Given the description of an element on the screen output the (x, y) to click on. 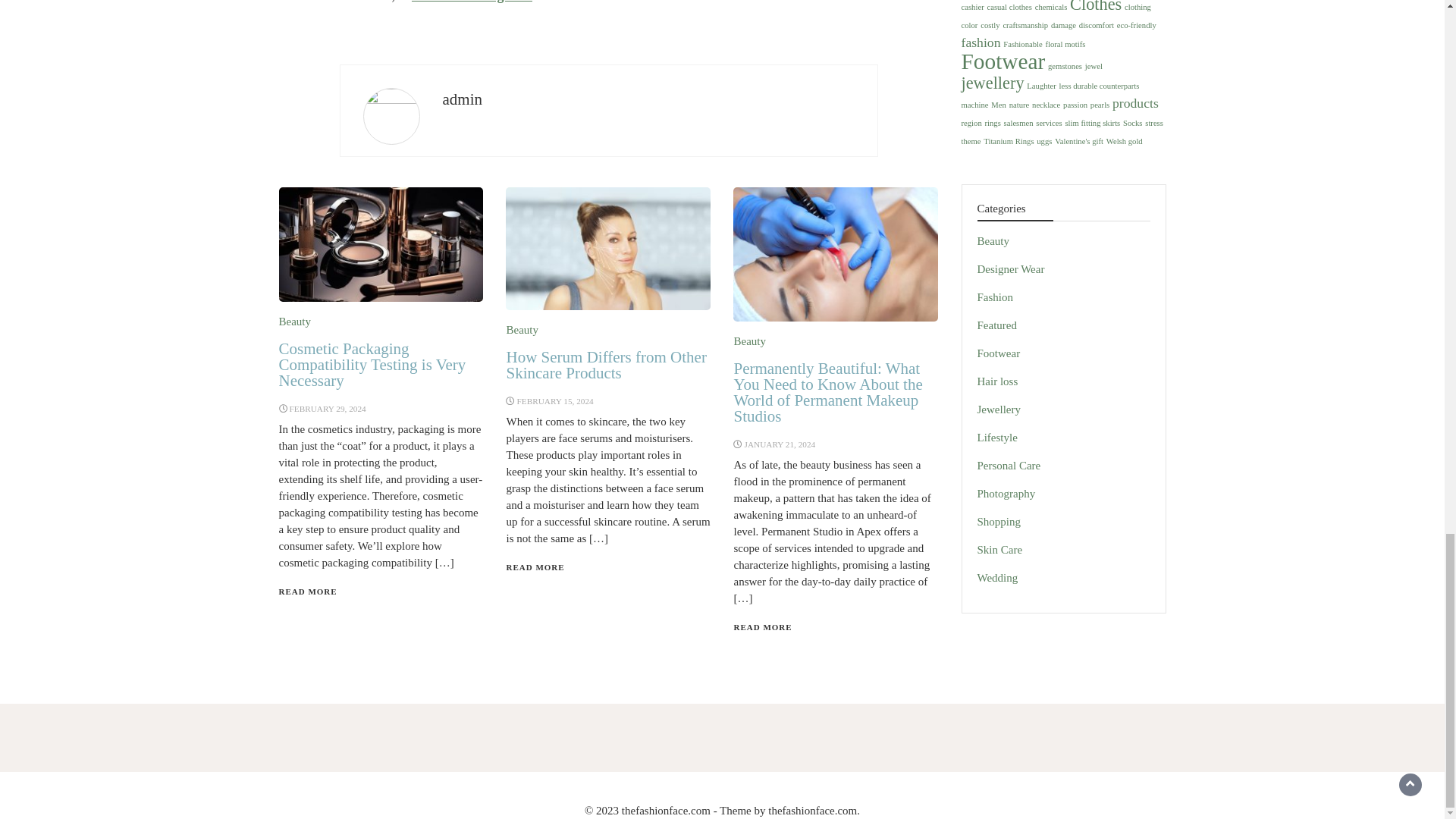
FEBRUARY 15, 2024 (555, 400)
Cosmetic Packaging Compatibility Testing is Very Necessary (372, 364)
READ MORE (308, 591)
Beauty (521, 329)
christian dating sites (472, 1)
FEBRUARY 29, 2024 (327, 408)
How Serum Differs from Other Skincare Products (605, 365)
admin (462, 99)
Beauty (295, 321)
